Given the description of an element on the screen output the (x, y) to click on. 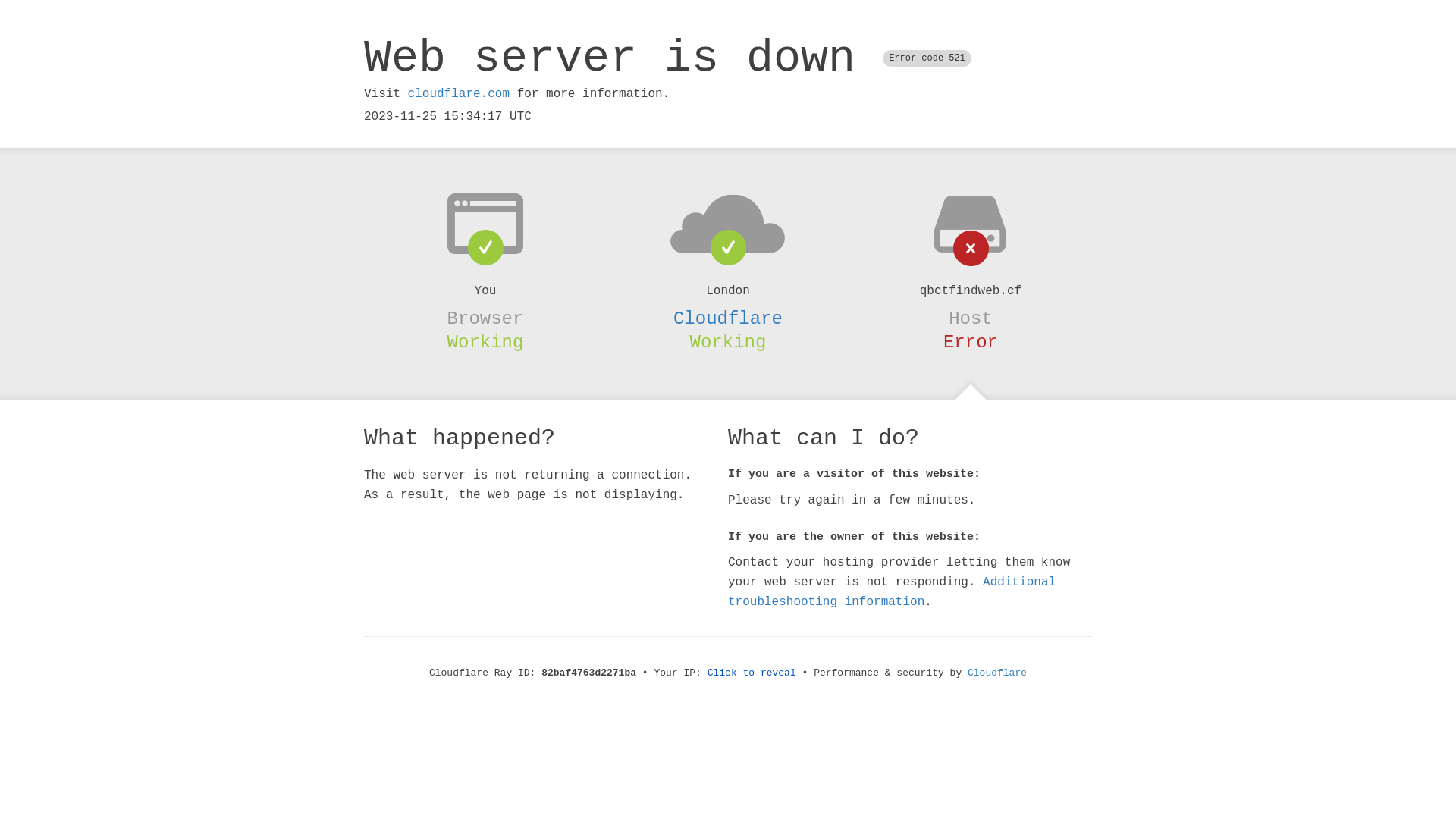
Cloudflare Element type: text (727, 318)
Cloudflare Element type: text (996, 672)
Additional troubleshooting information Element type: text (891, 591)
Click to reveal Element type: text (751, 672)
cloudflare.com Element type: text (458, 93)
